Given the description of an element on the screen output the (x, y) to click on. 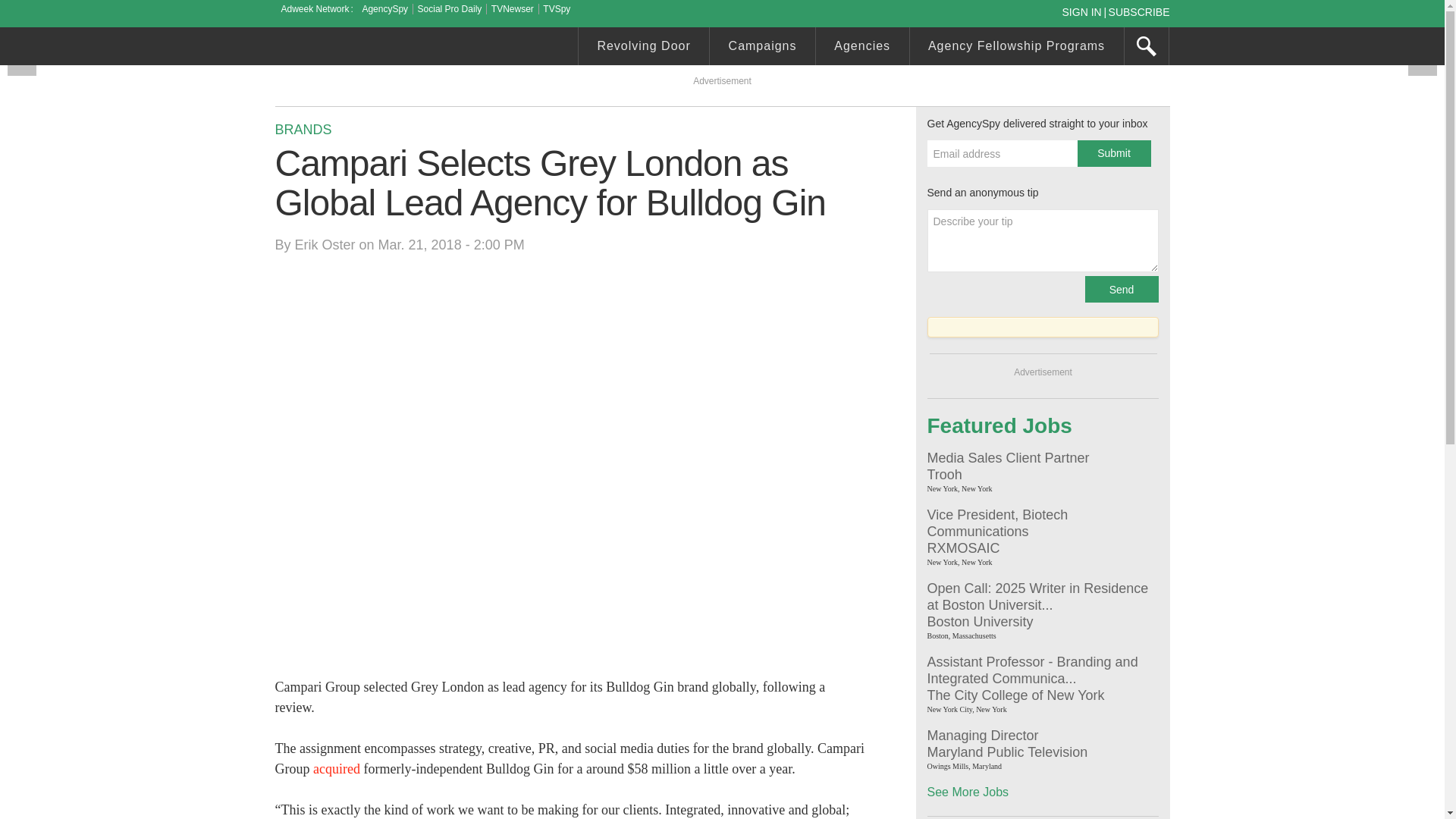
Send (1120, 289)
Agency Fellowship Programs (1017, 48)
SIGN IN (1084, 11)
Campaigns (762, 48)
Social Pro Daily (449, 9)
TVSpy (556, 9)
AgencySpy (384, 9)
Revolving Door (643, 48)
Covering the ad agency world (388, 47)
SUBSCRIBE (1139, 11)
Adweek Network (316, 9)
TVNewser (513, 9)
Agencies (861, 48)
Submit (1113, 153)
